Given the description of an element on the screen output the (x, y) to click on. 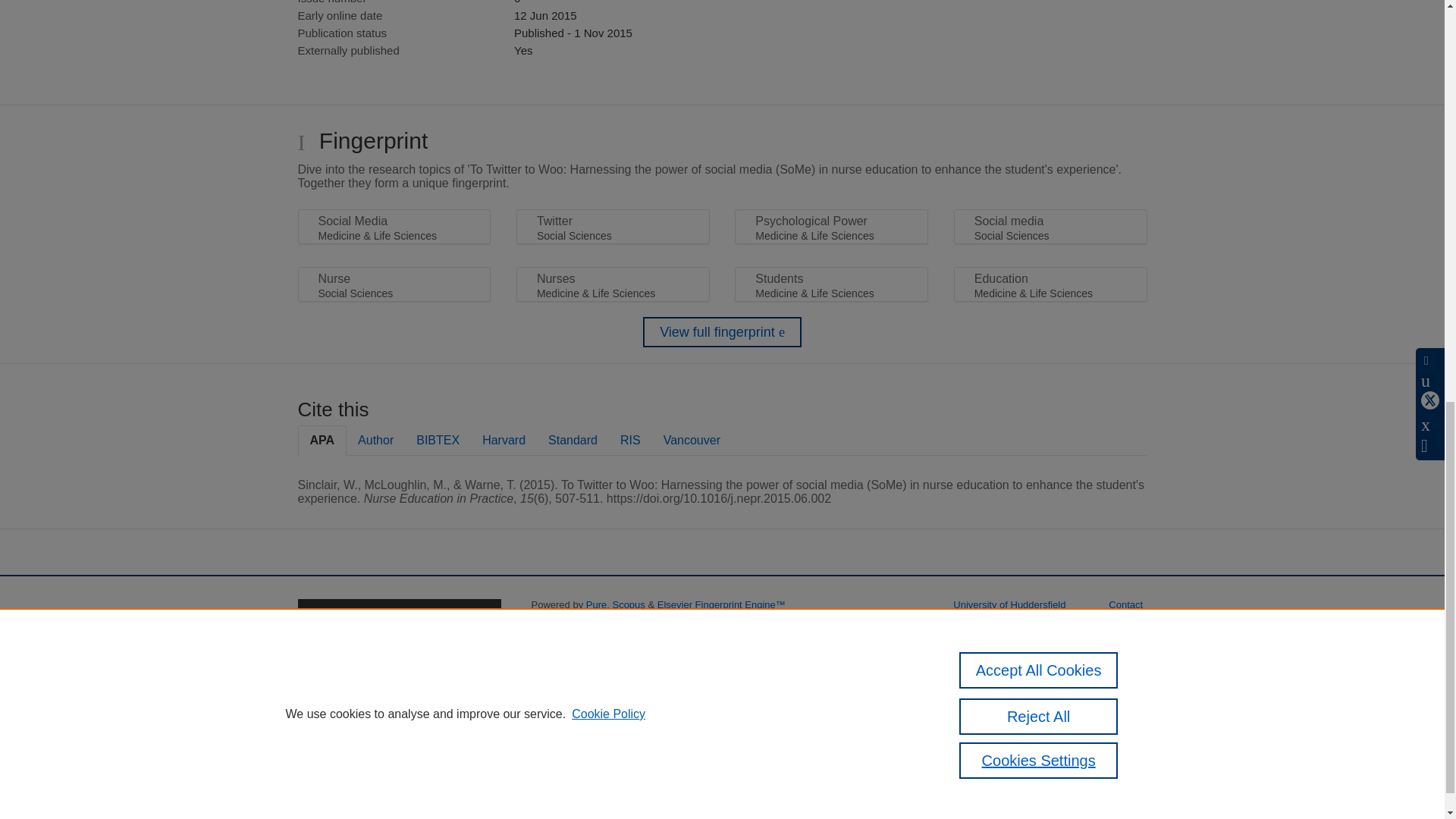
Elsevier B.V. (739, 624)
View full fingerprint (722, 331)
Scopus (628, 604)
Pure (596, 604)
